Given the description of an element on the screen output the (x, y) to click on. 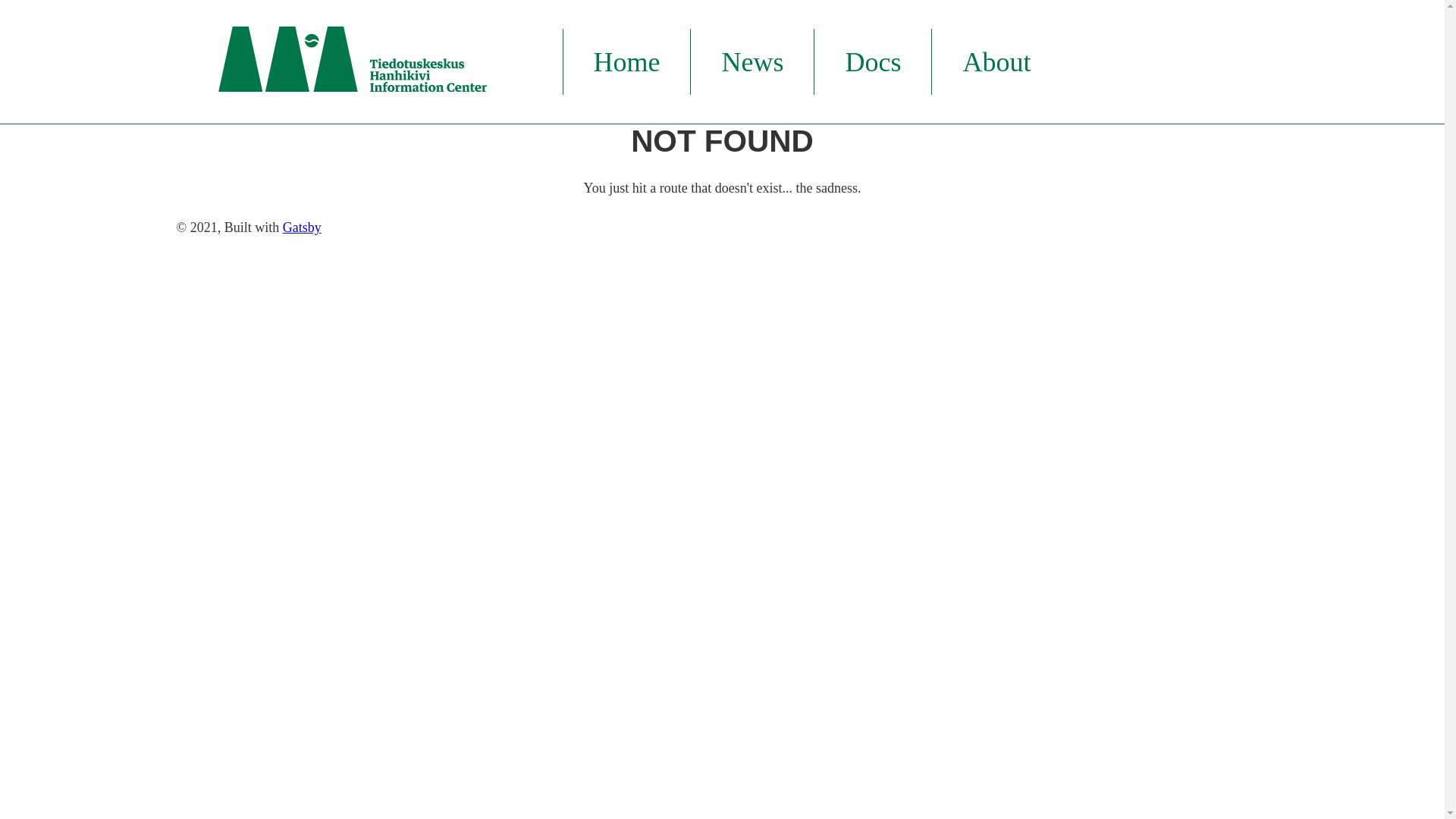
News Element type: text (751, 62)
About Element type: text (995, 62)
Home Element type: text (626, 62)
Docs Element type: text (872, 62)
Gatsby Element type: text (301, 227)
